Given the description of an element on the screen output the (x, y) to click on. 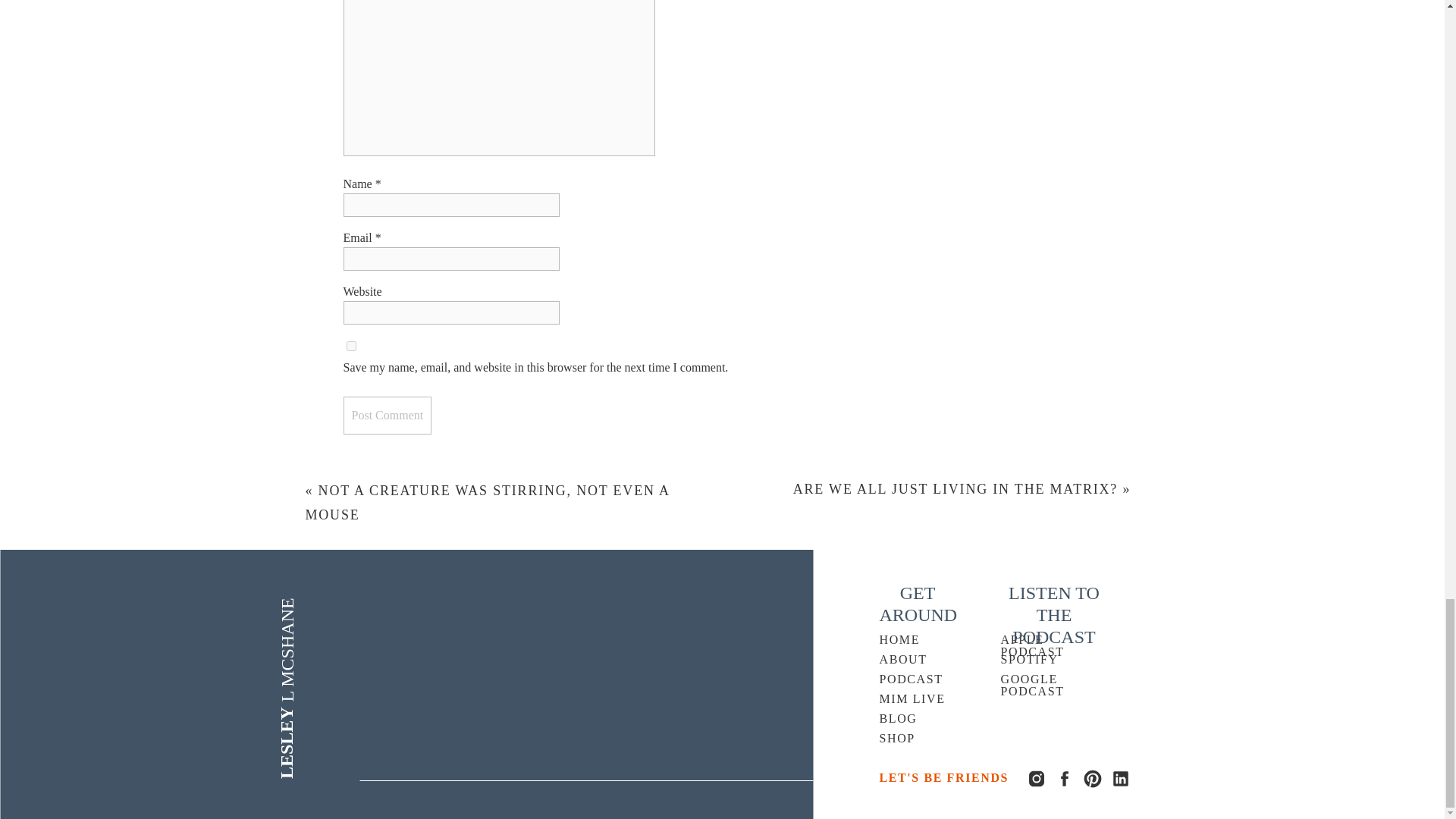
MIM LIVE (920, 699)
PODCAST (914, 680)
yes (350, 346)
ARE WE ALL JUST LIVING IN THE MATRIX? (955, 488)
SHOP (914, 739)
NOT A CREATURE WAS STIRRING, NOT EVEN A MOUSE (486, 502)
APPLE PODCAST (1051, 640)
ABOUT (914, 660)
Post Comment (386, 415)
BLOG (914, 719)
GOOGLE PODCAST (1048, 680)
HOME (914, 640)
SPOTIFY (1036, 660)
Post Comment (386, 415)
